Given the description of an element on the screen output the (x, y) to click on. 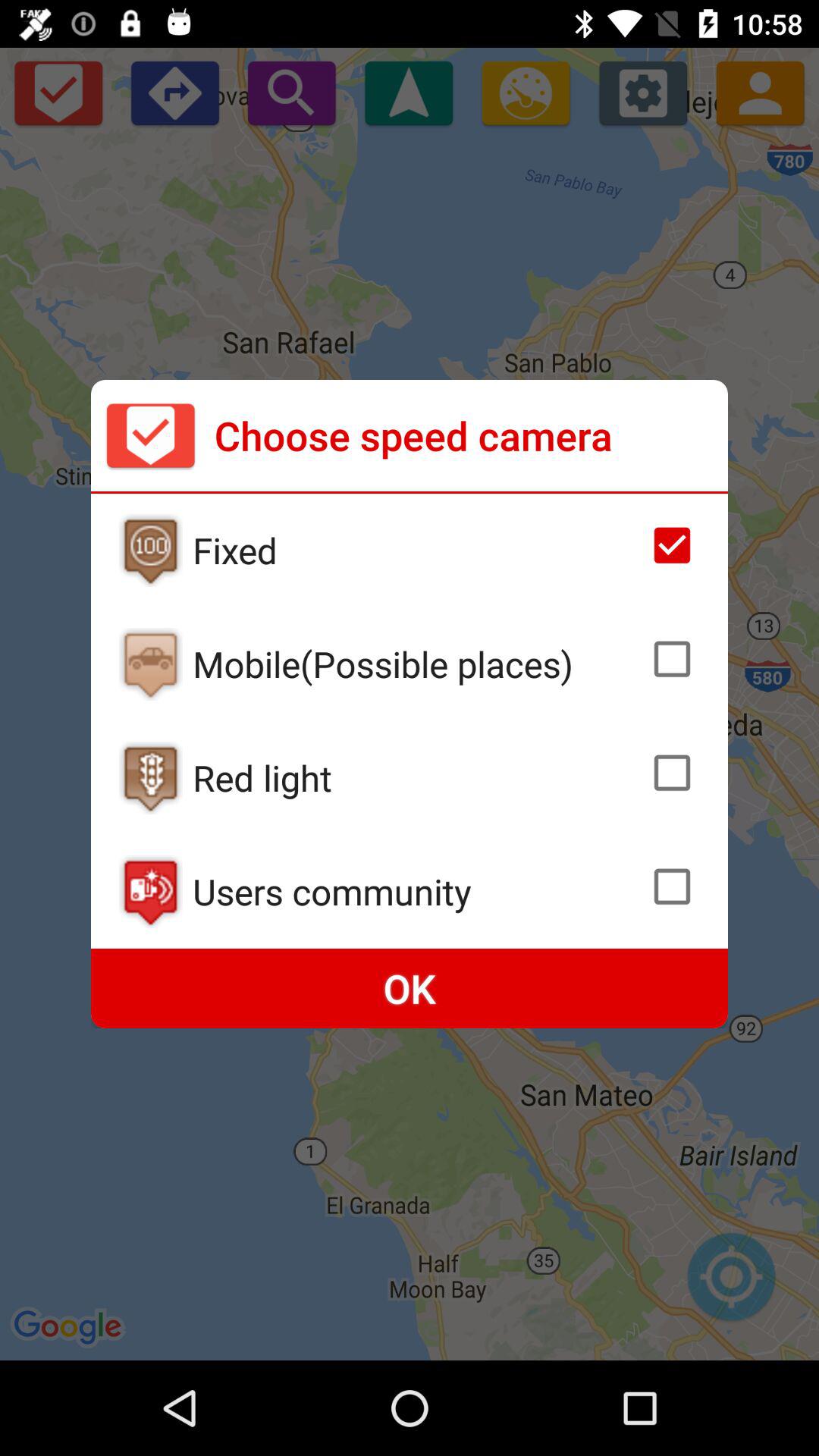
select ok at the bottom (409, 988)
